Given the description of an element on the screen output the (x, y) to click on. 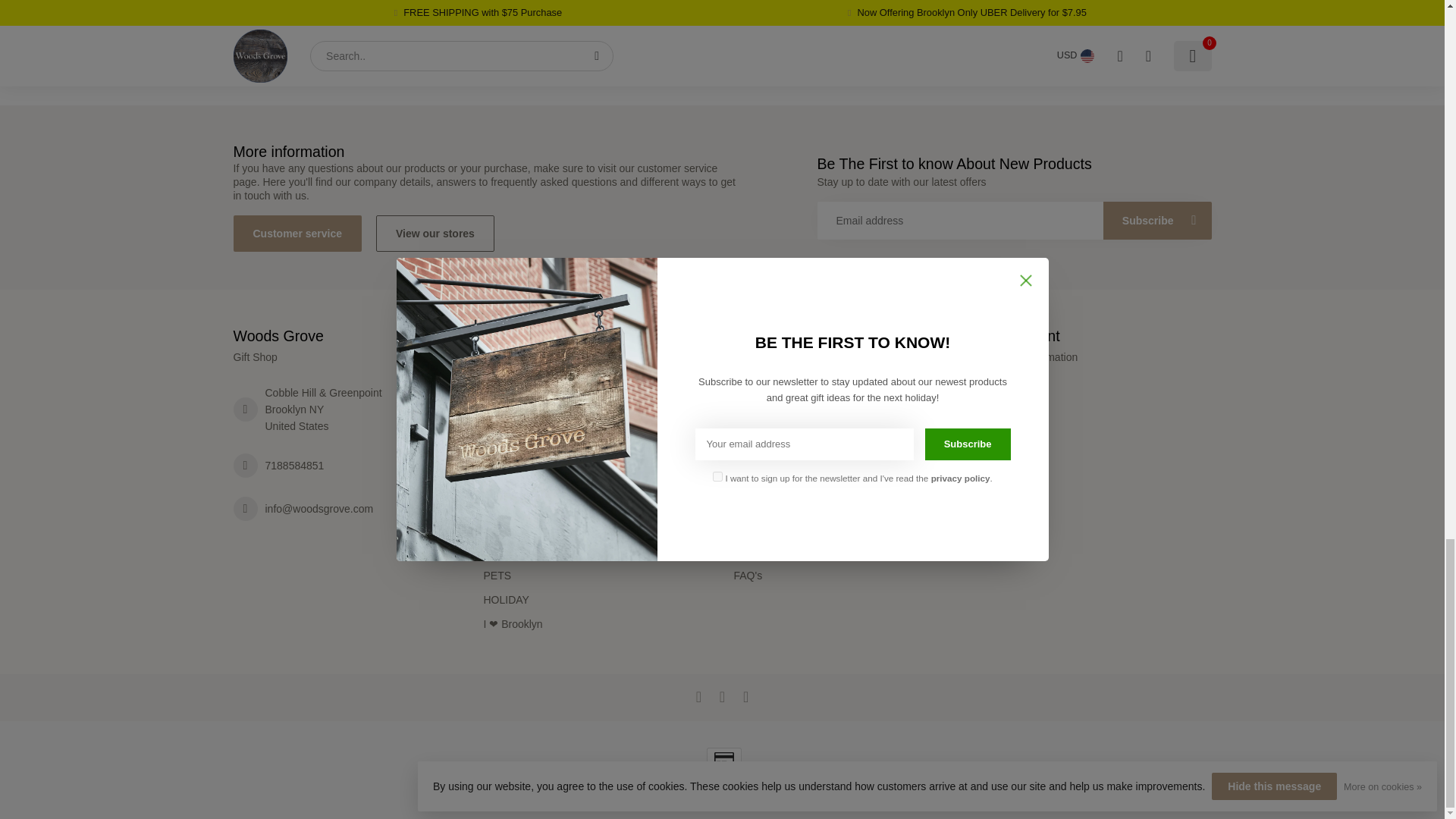
About us (846, 381)
Disclaimer (846, 429)
Privacy policy (846, 478)
Payment Methods (846, 502)
1 (389, 18)
Customer support (846, 526)
